Given the description of an element on the screen output the (x, y) to click on. 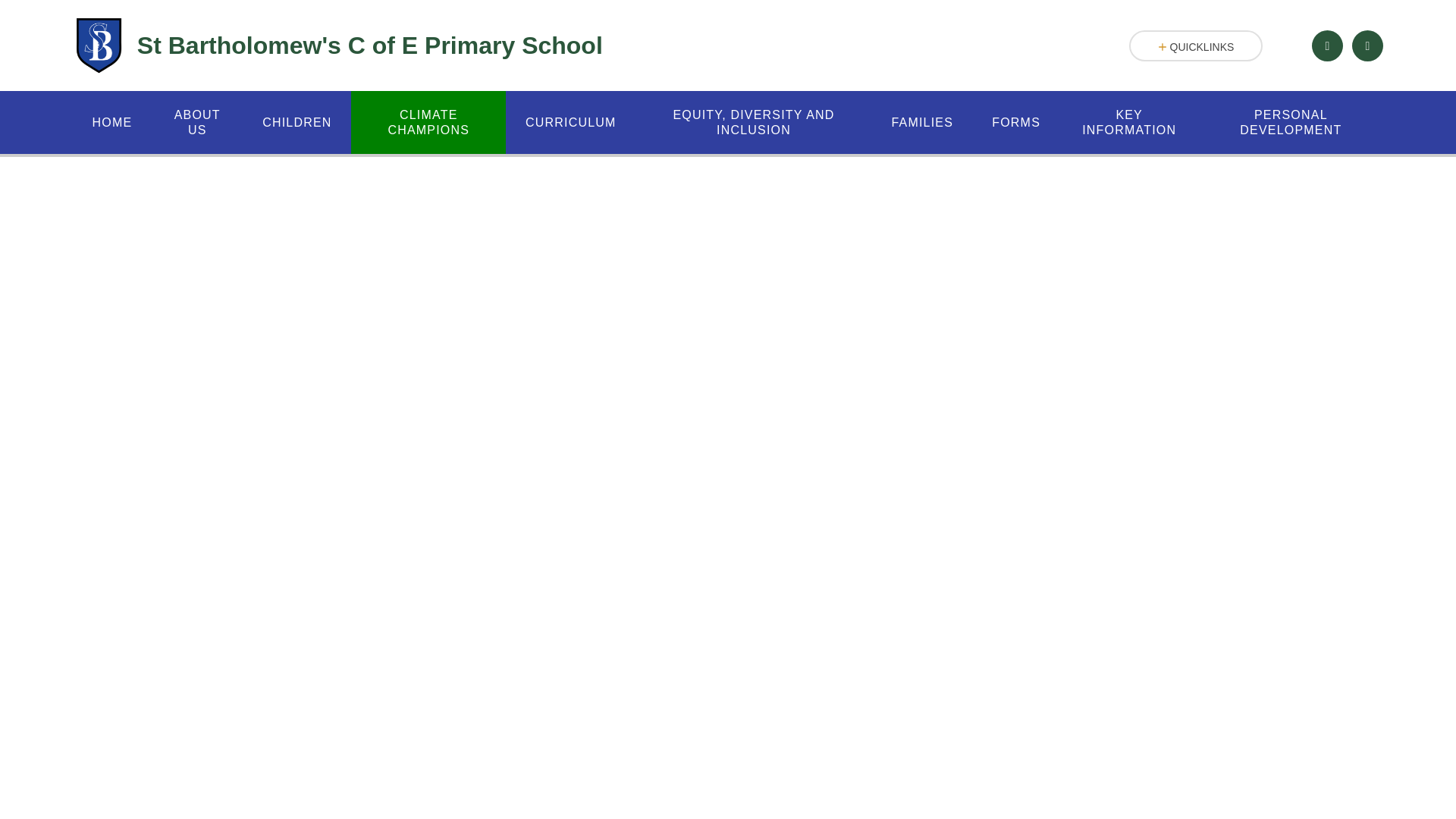
CHILDREN (297, 121)
St Bartholomew's C of E Primary School (337, 45)
ABOUT US (197, 121)
HOME (111, 121)
